Given the description of an element on the screen output the (x, y) to click on. 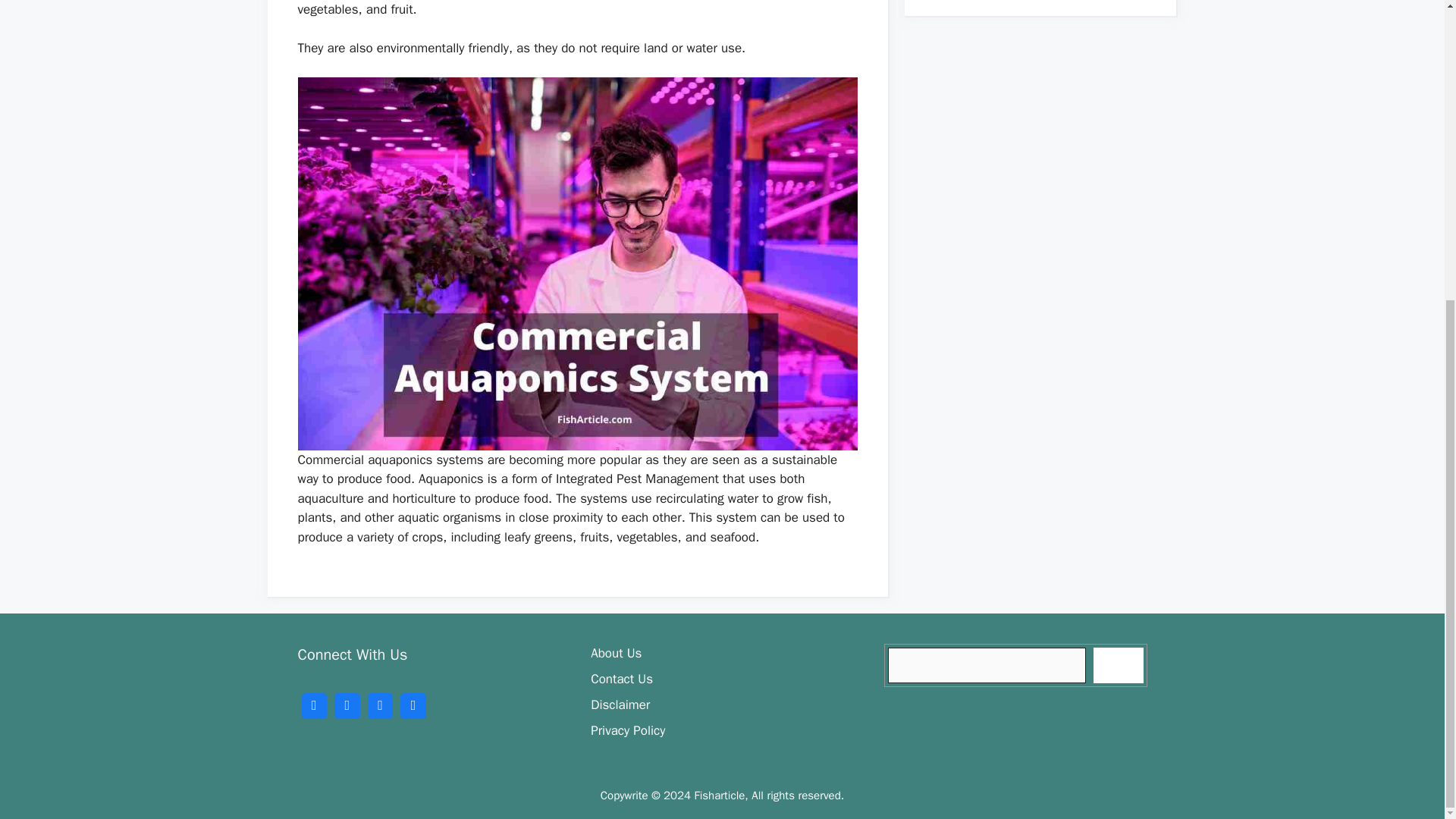
Facebook (313, 704)
Instagram (380, 704)
Linkedin (412, 704)
Pinterest (347, 704)
